Given the description of an element on the screen output the (x, y) to click on. 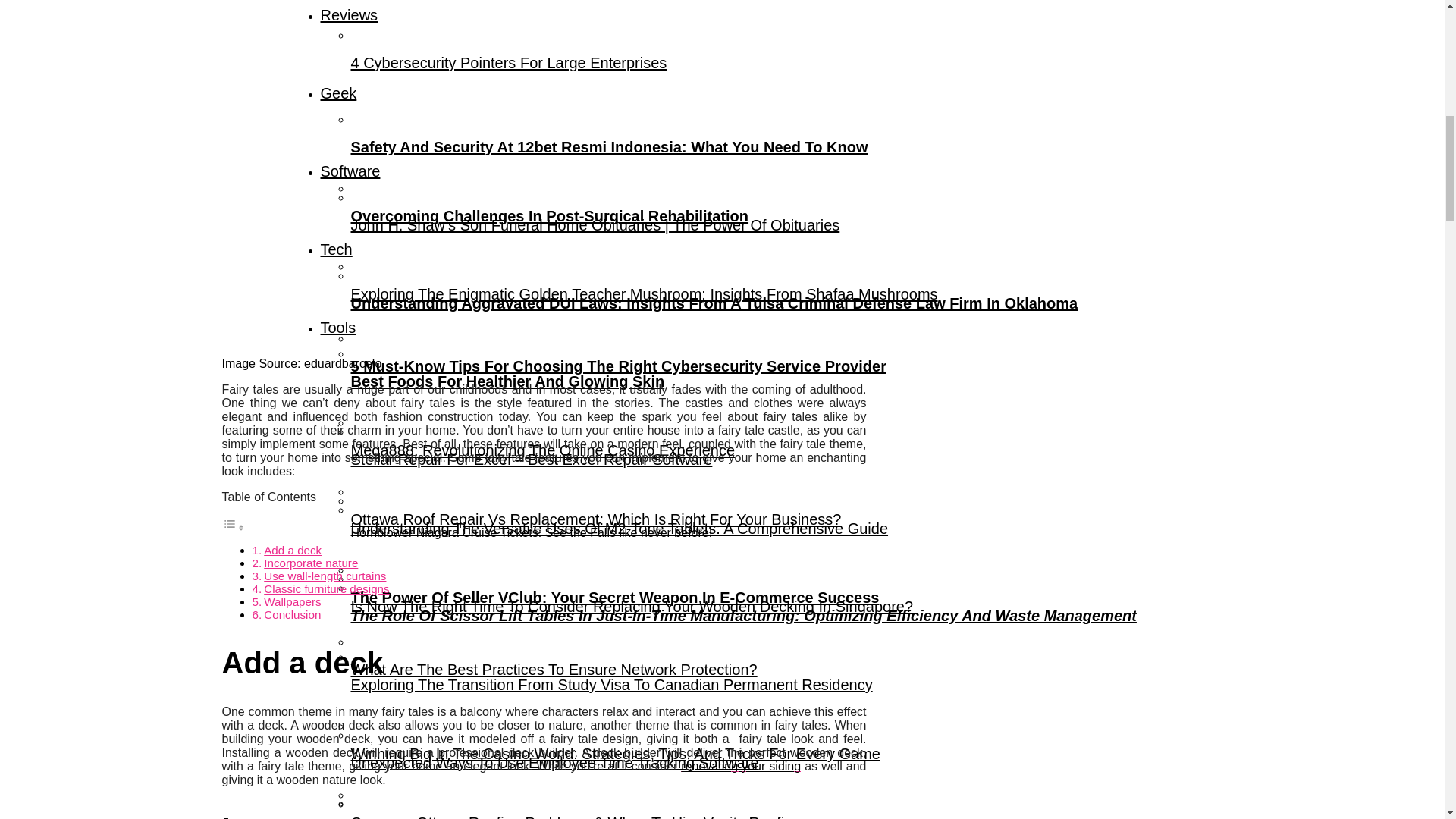
Classic furniture designs (325, 588)
Add a deck (292, 549)
Incorporate nature (310, 562)
Wallpapers (291, 601)
